Given the description of an element on the screen output the (x, y) to click on. 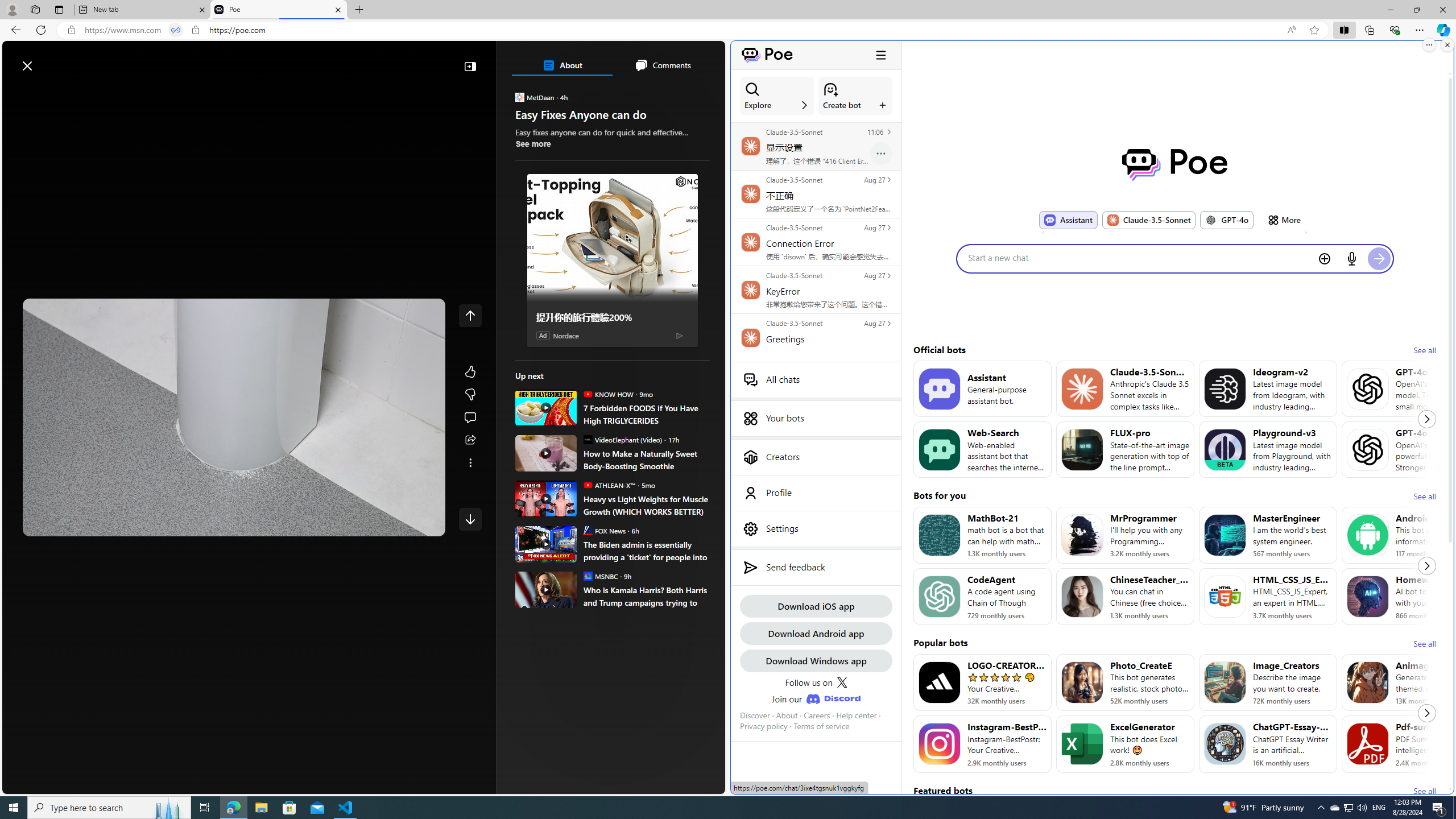
Bot image for Assistant Assistant (1068, 219)
7 Forbidden FOODS if You Have High TRIGLYCERIDES (545, 407)
Captions (383, 523)
Bot image for MrProgrammer (1081, 534)
MSNBC MSNBC (600, 575)
How to Make a Naturally Sweet Body-Boosting Smoothie (646, 459)
Bot image for Photo_CreateE (1081, 682)
FOX News FOX News (604, 529)
Bot image for Image_Creators (1224, 682)
